Given the description of an element on the screen output the (x, y) to click on. 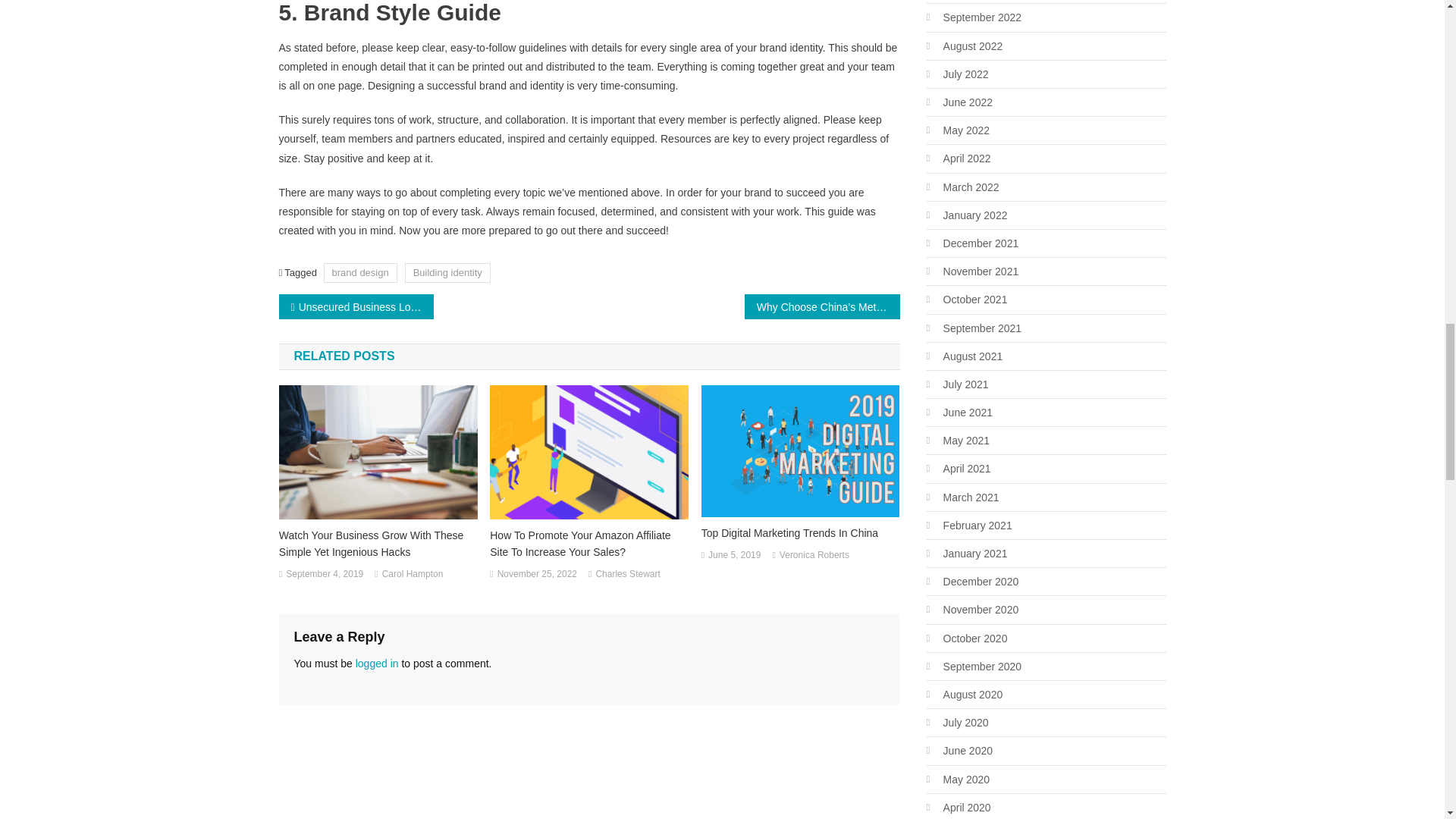
June 5, 2019 (733, 555)
Building identity (447, 271)
Carol Hampton (412, 574)
Top Digital Marketing Trends In China (800, 532)
brand design (360, 271)
November 25, 2022 (536, 574)
September 4, 2019 (323, 574)
Charles Stewart (627, 574)
